Given the description of an element on the screen output the (x, y) to click on. 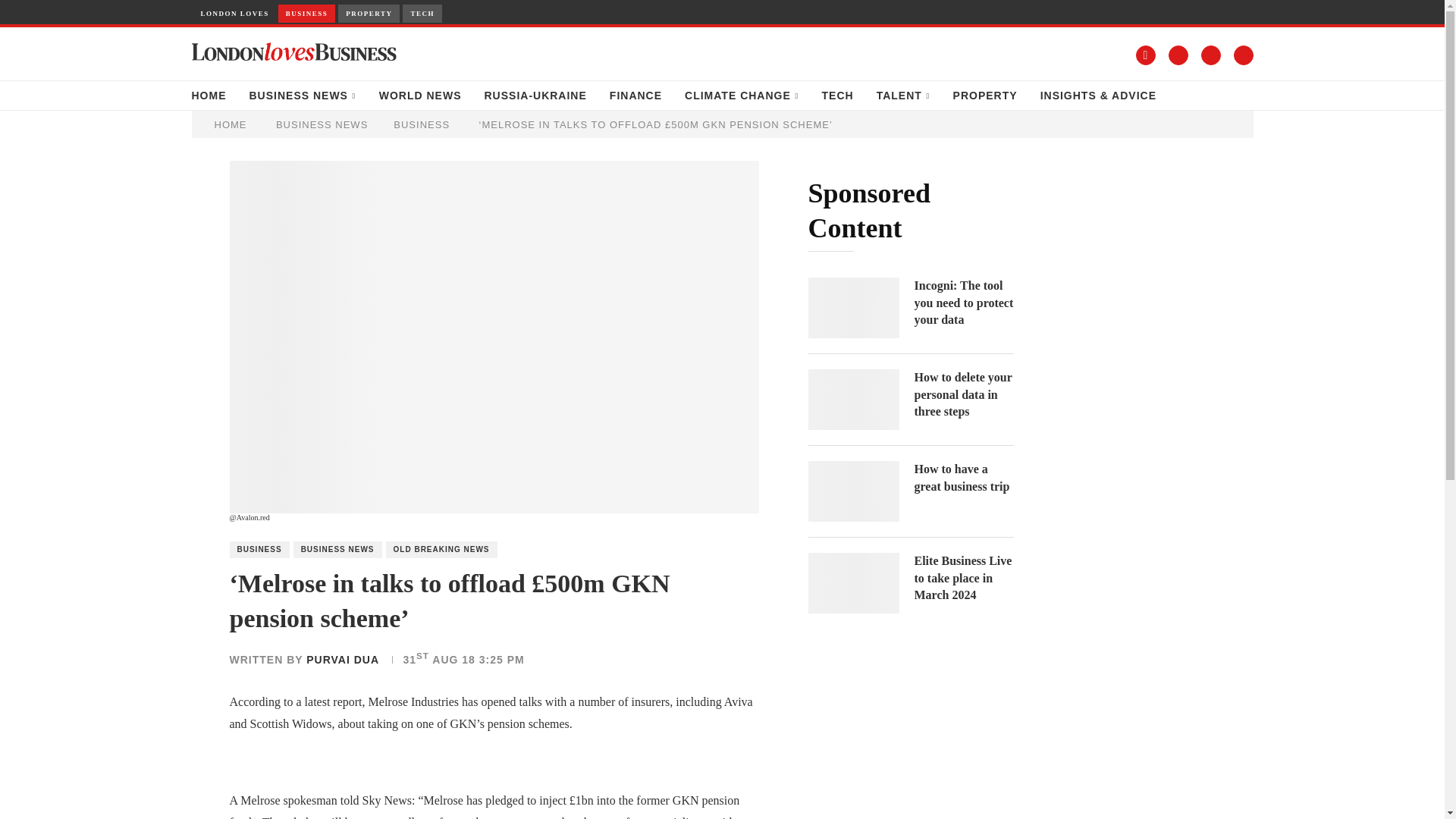
Incogni: The tool you need to protect your data (853, 307)
Incogni: The tool you need to protect your data (963, 302)
How to delete your personal data in three steps (853, 399)
How to have a great business trip (963, 478)
How to delete your personal data in three steps (963, 394)
How to have a great business trip (853, 491)
